Given the description of an element on the screen output the (x, y) to click on. 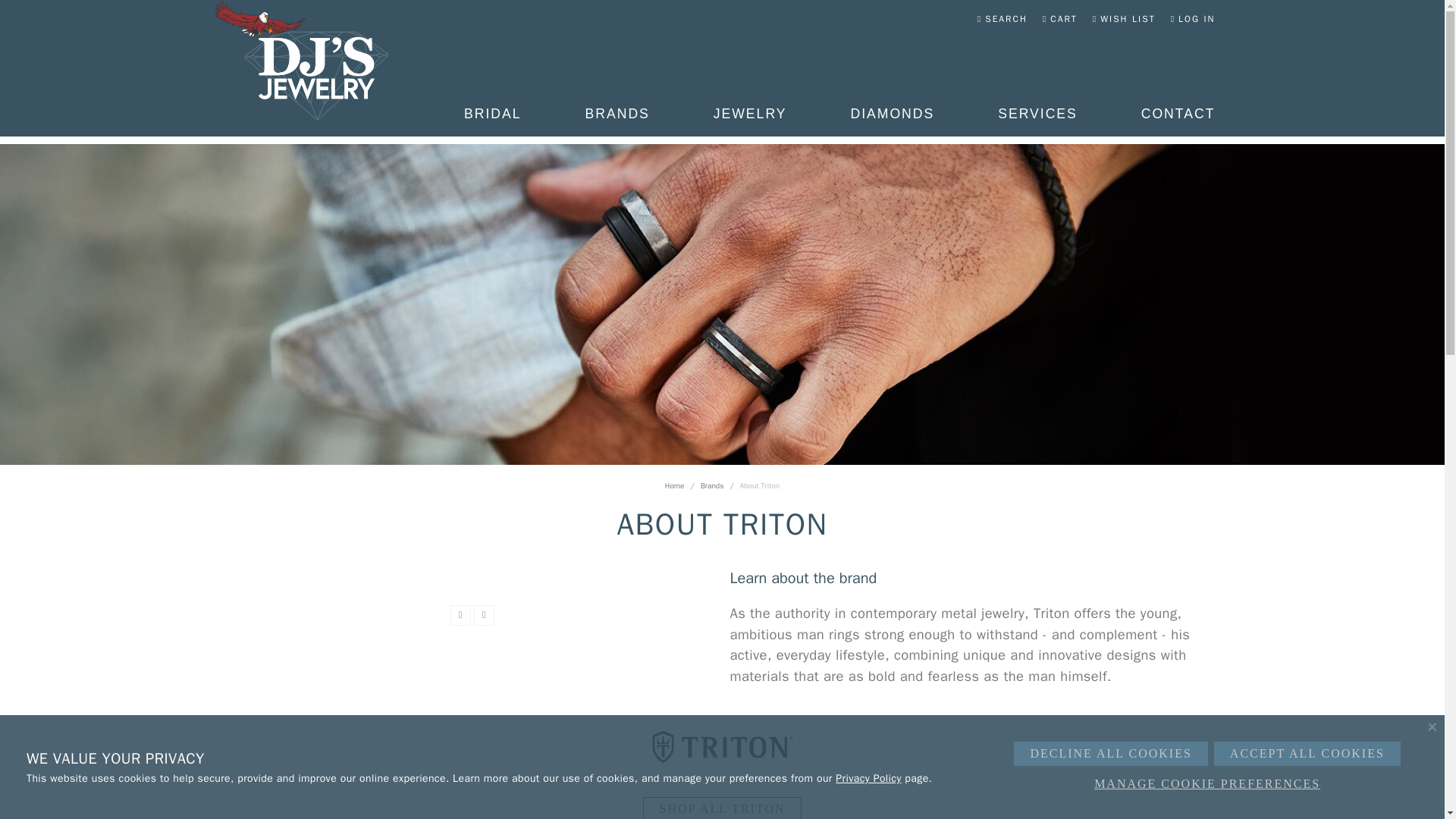
BRIDAL (492, 117)
SEARCH (1001, 18)
WISH LIST (1124, 18)
BRANDS (617, 117)
LOG IN (1192, 18)
CART (1059, 18)
